Given the description of an element on the screen output the (x, y) to click on. 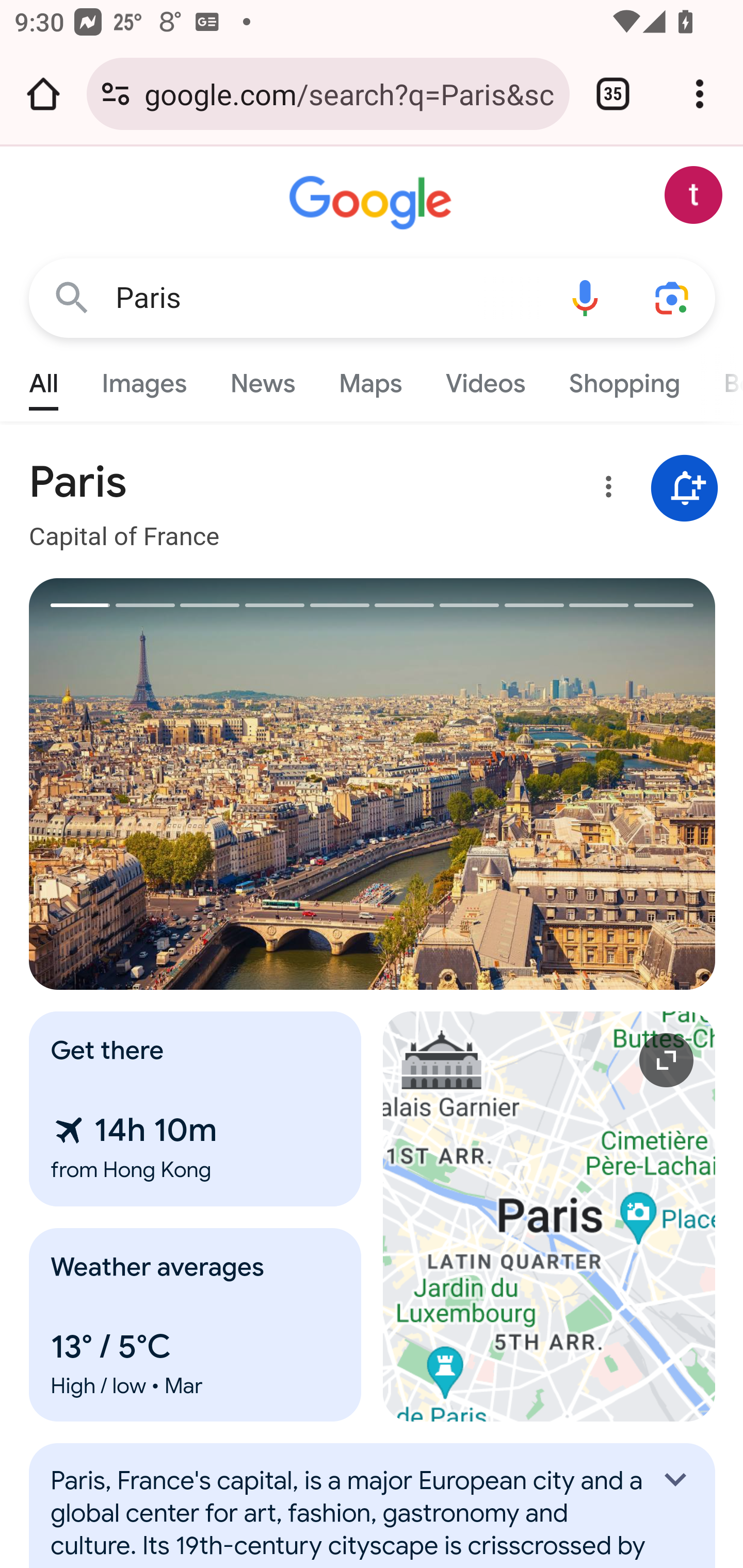
Open the home page (43, 93)
Connection is secure (115, 93)
Switch or close tabs (612, 93)
Customize and control Google Chrome (699, 93)
Google (372, 203)
Google Search (71, 296)
Search using your camera or photos (672, 296)
Paris (328, 297)
Images (144, 378)
News (262, 378)
Maps (369, 378)
Videos (485, 378)
Shopping (623, 378)
Get notifications about Paris (684, 489)
More options (605, 489)
Previous image (200, 783)
Next image (544, 783)
Expand map (549, 1216)
Weather averages 13° / 5°C High / low • Mar (195, 1324)
